Given the description of an element on the screen output the (x, y) to click on. 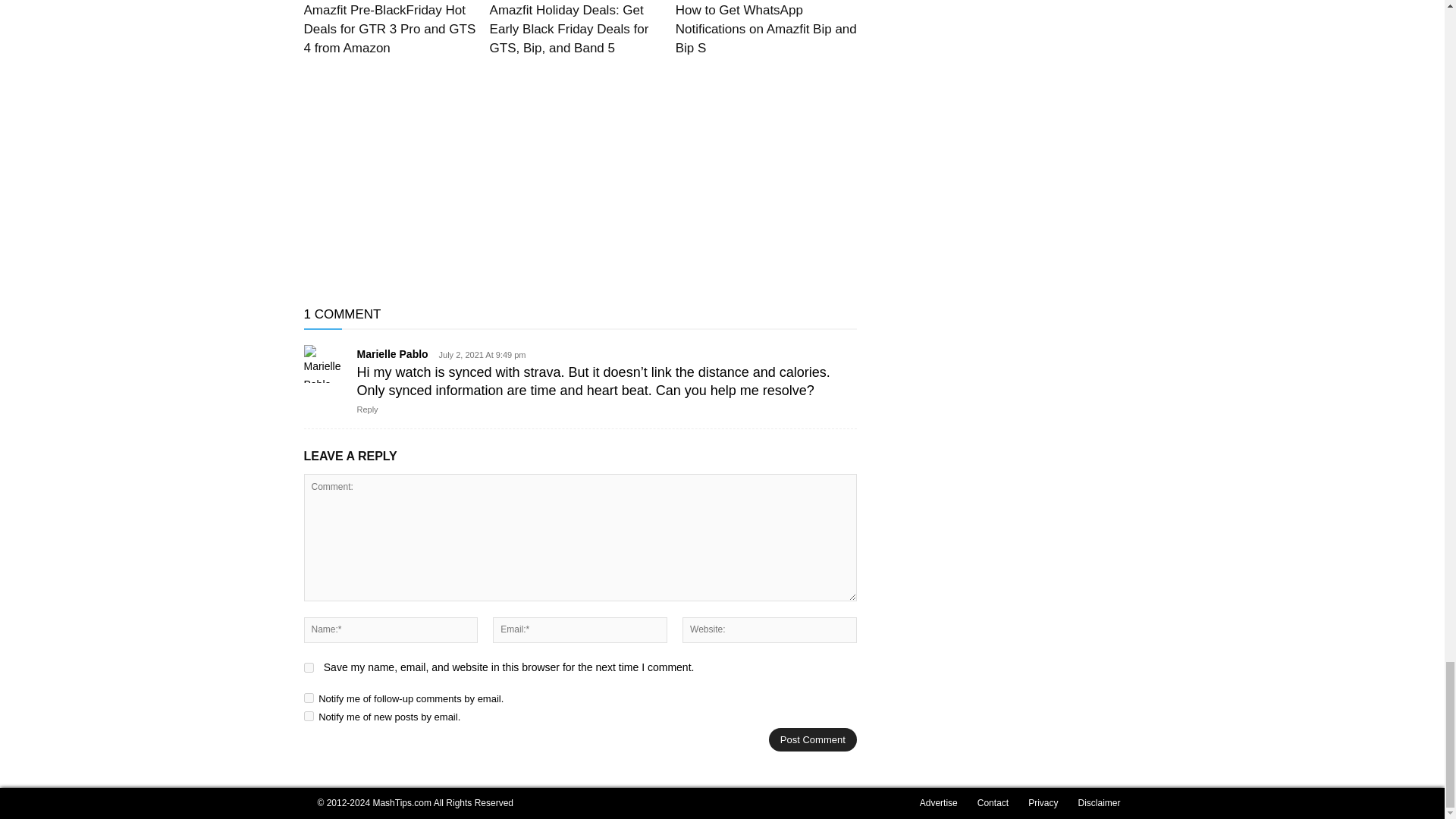
yes (307, 667)
subscribe (307, 716)
subscribe (307, 697)
Post Comment (812, 739)
